Given the description of an element on the screen output the (x, y) to click on. 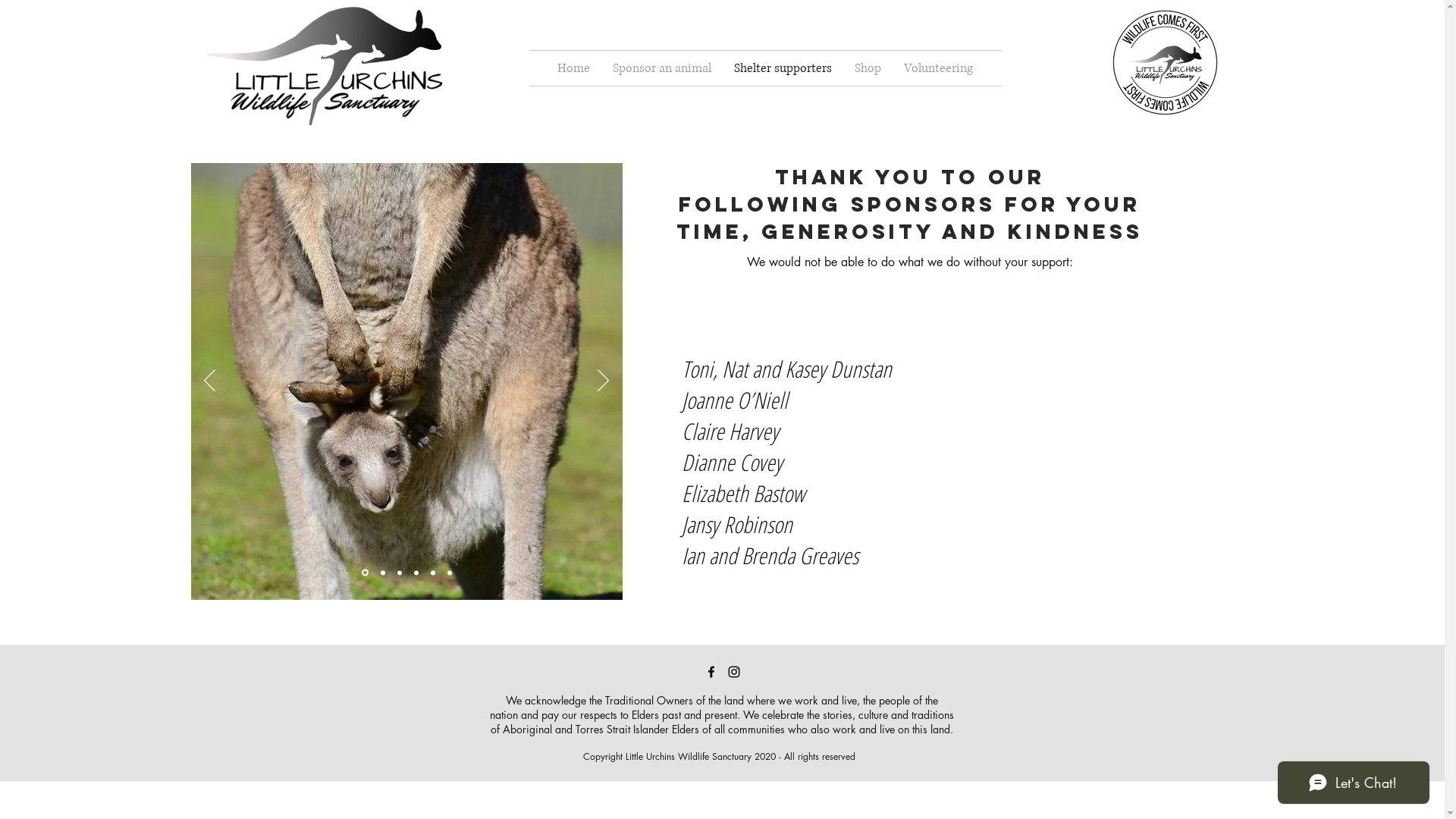
Shelter supporters Element type: text (782, 67)
Sponsor an animal Element type: text (661, 67)
Home Element type: text (573, 67)
Volunteering Element type: text (938, 67)
Shop Element type: text (867, 67)
